Given the description of an element on the screen output the (x, y) to click on. 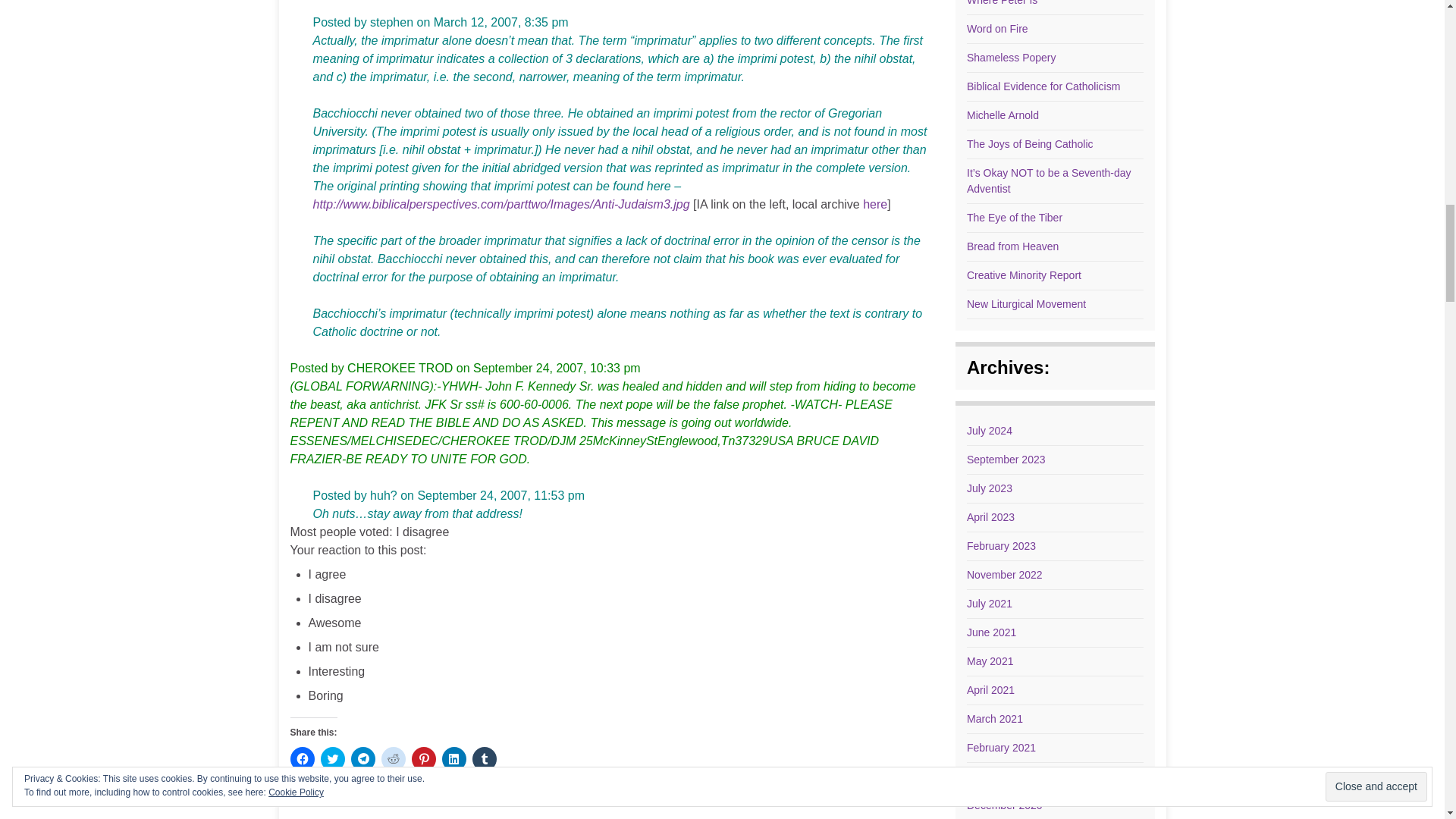
Click to share on Telegram (362, 758)
Samuele Bacchiocchi (500, 204)
Click to share on Twitter (331, 758)
Click to share on Reddit (392, 758)
Click to share on Facebook (301, 758)
Click to share on Pinterest (422, 758)
